Given the description of an element on the screen output the (x, y) to click on. 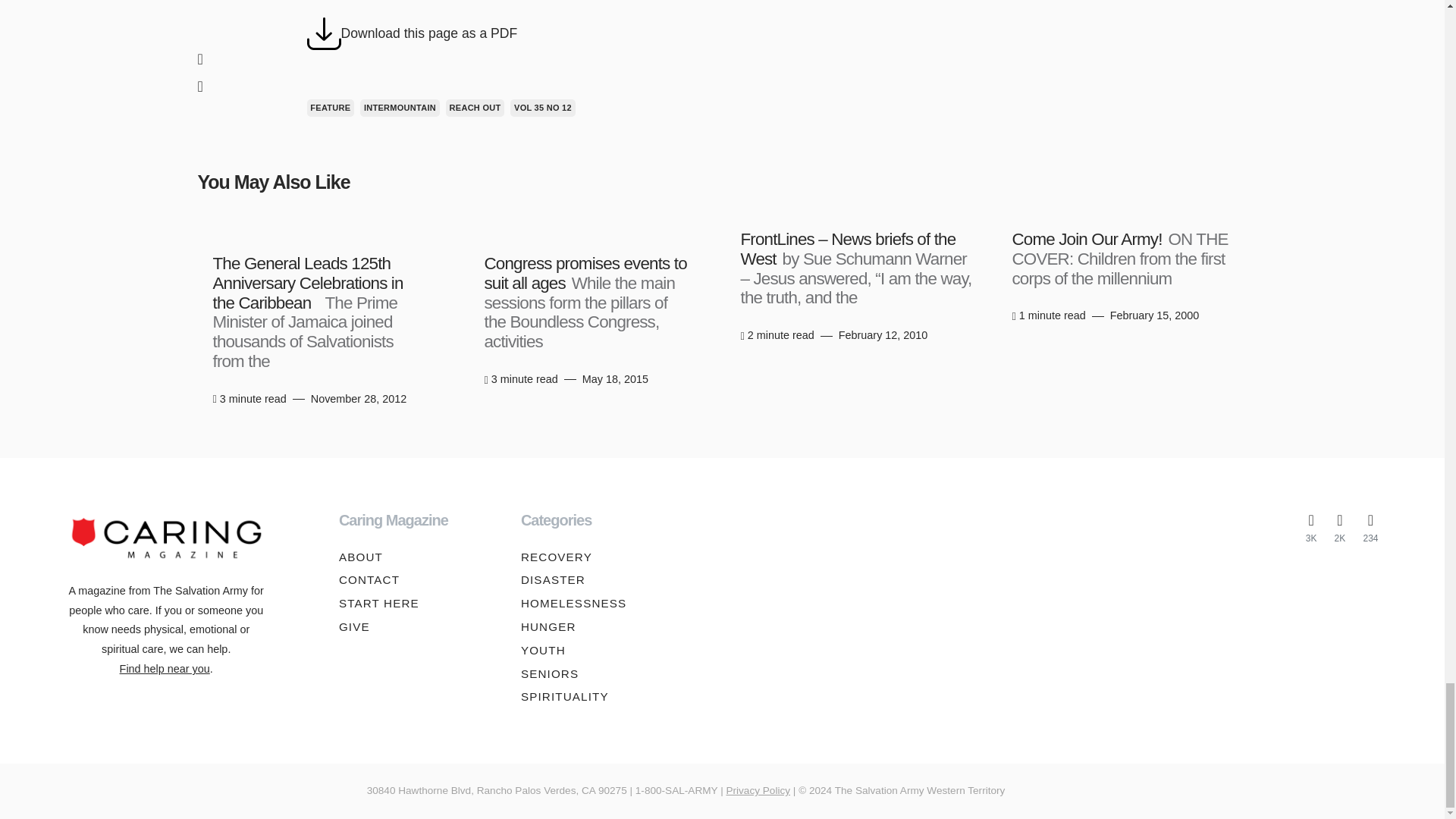
Generate PDF (322, 33)
